Given the description of an element on the screen output the (x, y) to click on. 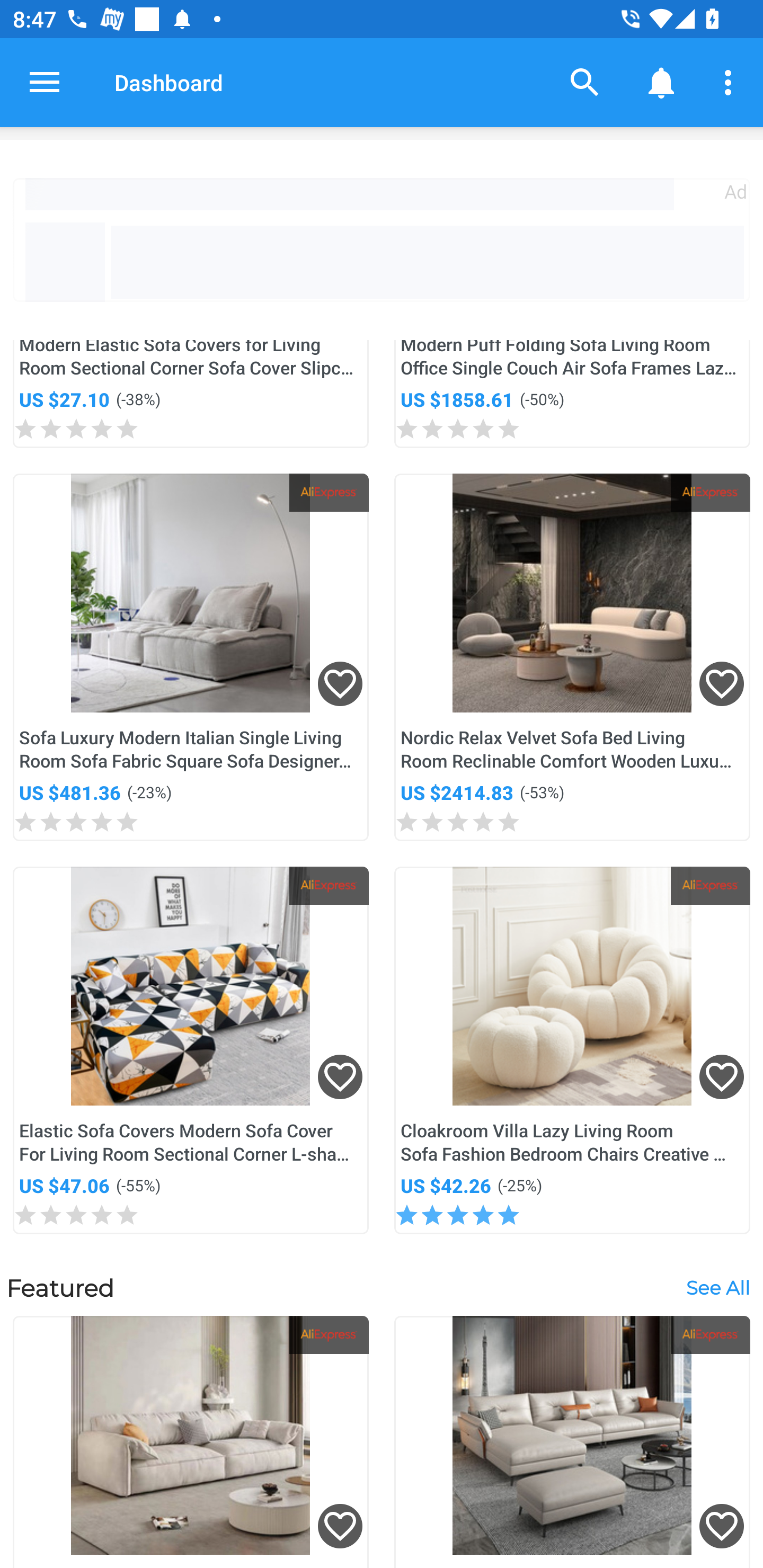
Open navigation drawer (44, 82)
Search (585, 81)
More options (731, 81)
See All (717, 1286)
